Given the description of an element on the screen output the (x, y) to click on. 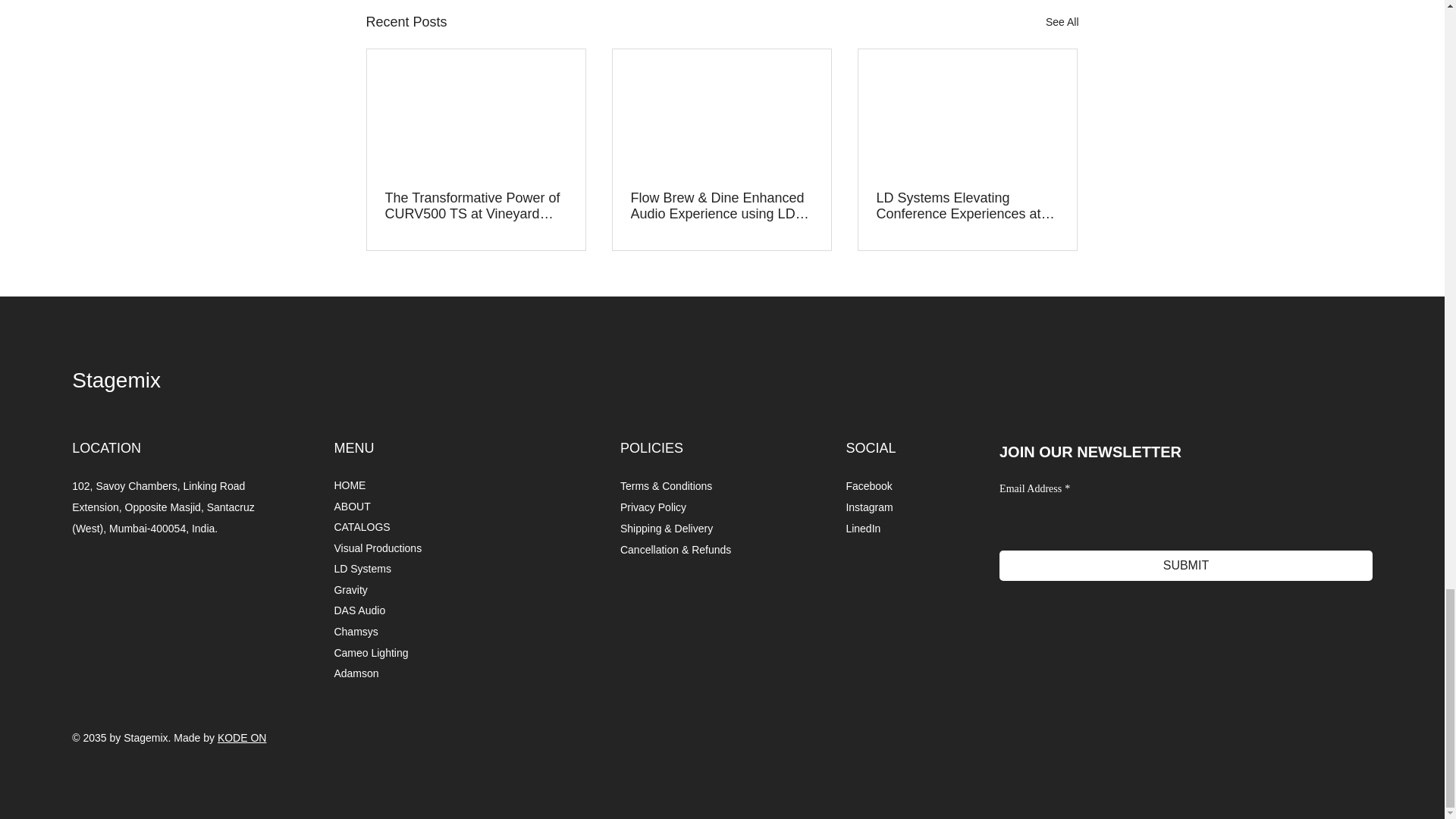
See All (1061, 22)
